Given the description of an element on the screen output the (x, y) to click on. 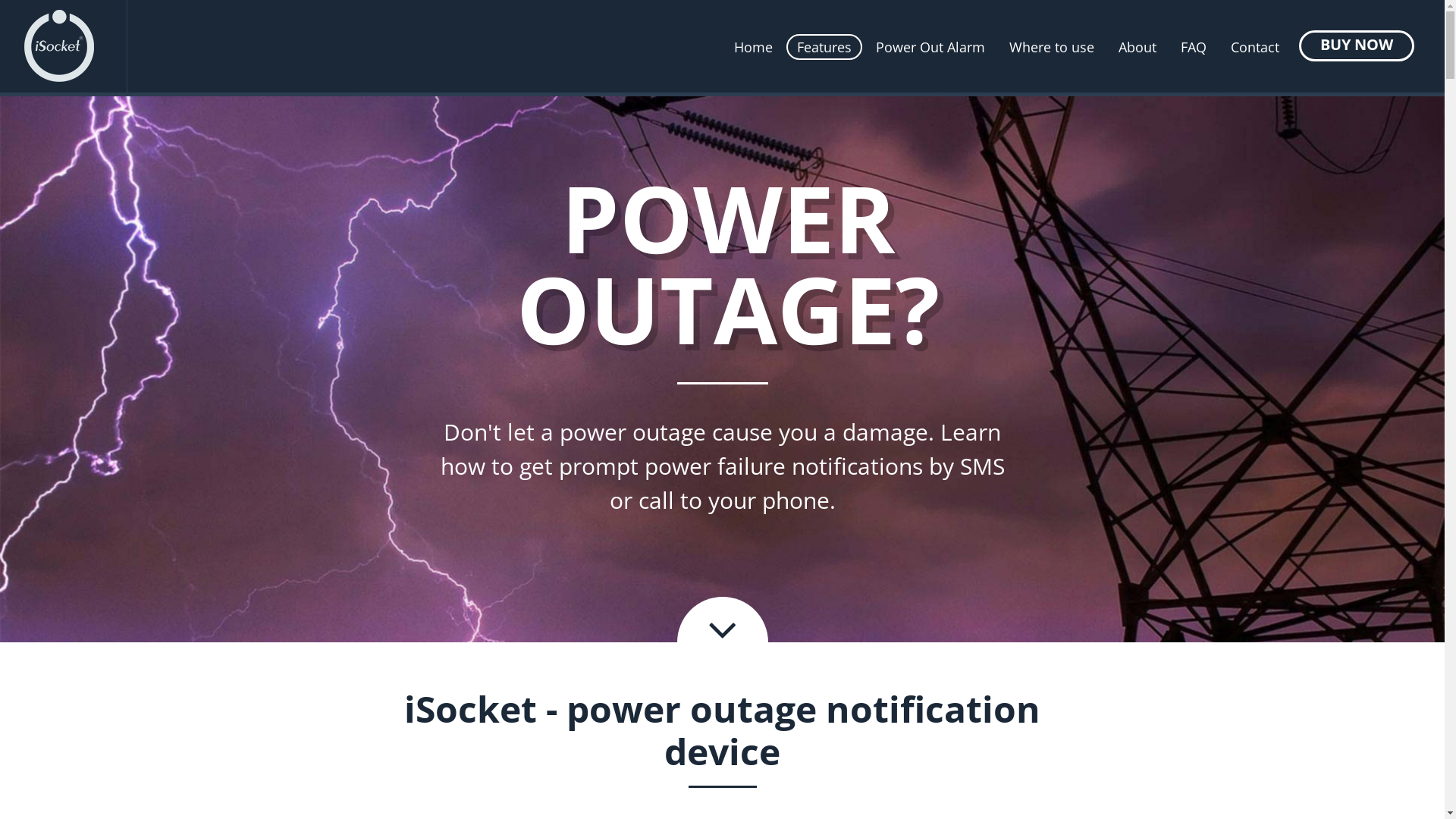
FAQ Element type: text (1193, 46)
About Element type: text (1137, 46)
Home Element type: text (753, 46)
Where to use Element type: text (1051, 46)
Features Element type: text (824, 46)
Power Out Alarm Element type: text (930, 46)
BUY NOW Element type: text (1356, 45)
Contact Element type: text (1254, 46)
